Given the description of an element on the screen output the (x, y) to click on. 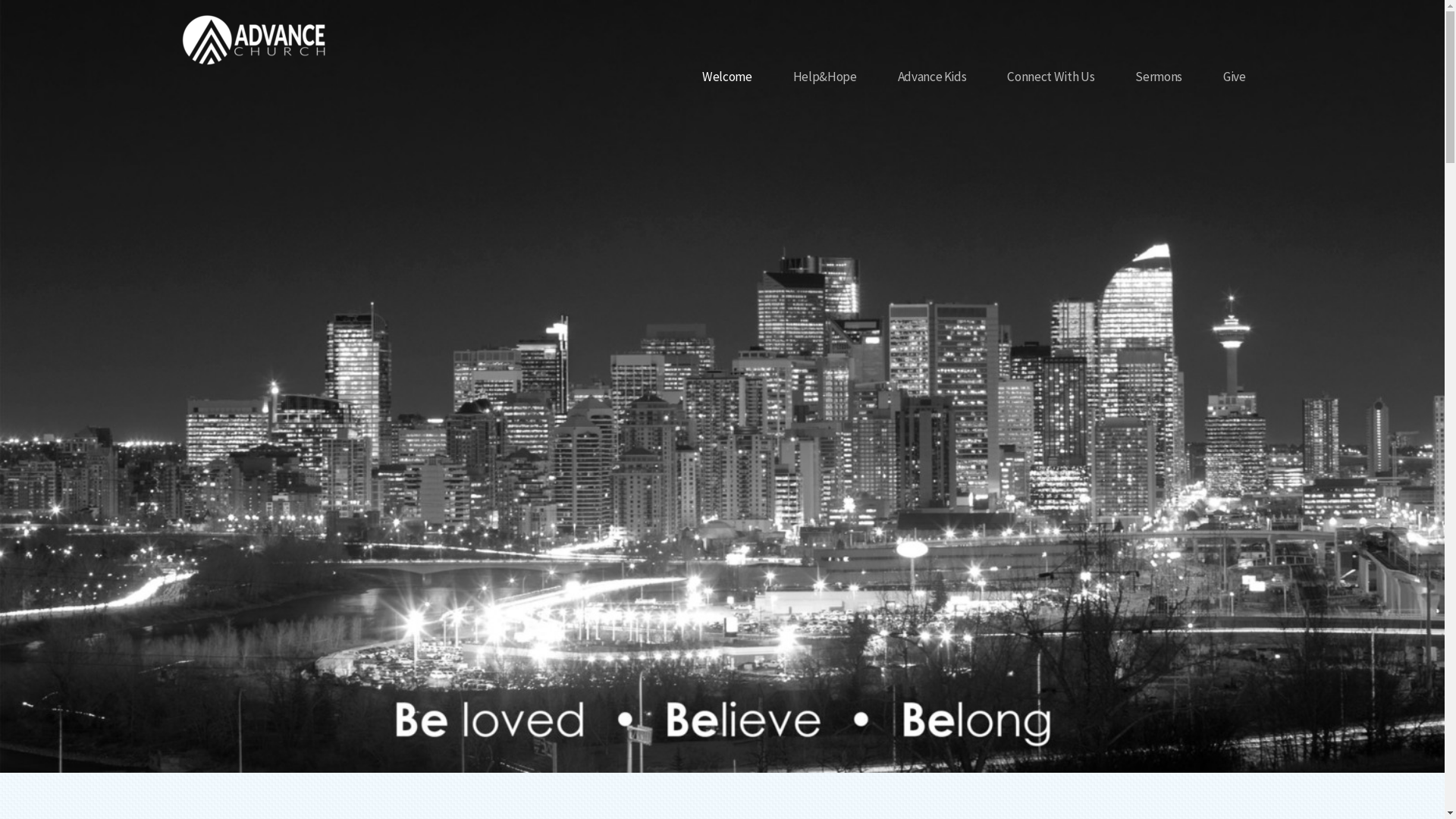
Connect With Us Element type: text (1050, 76)
Sermons Element type: text (1158, 76)
Advance Kids Element type: text (932, 76)
Welcome Element type: text (726, 76)
Help&Hope Element type: text (824, 76)
Give Element type: text (1234, 76)
